Given the description of an element on the screen output the (x, y) to click on. 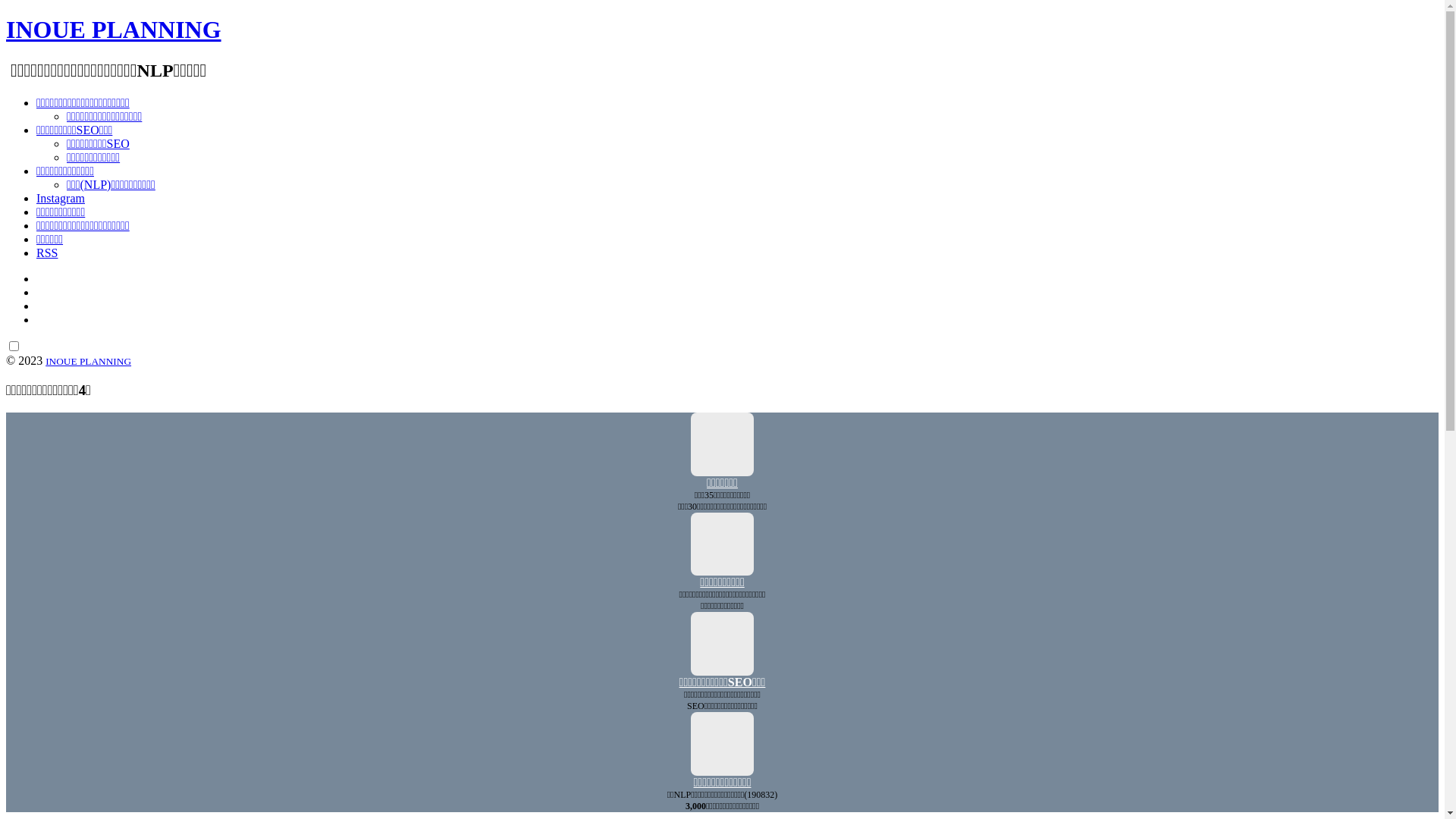
Instagram Element type: text (60, 197)
INOUE PLANNING Element type: text (113, 29)
RSS Element type: text (46, 252)
INOUE PLANNING Element type: text (88, 360)
